Given the description of an element on the screen output the (x, y) to click on. 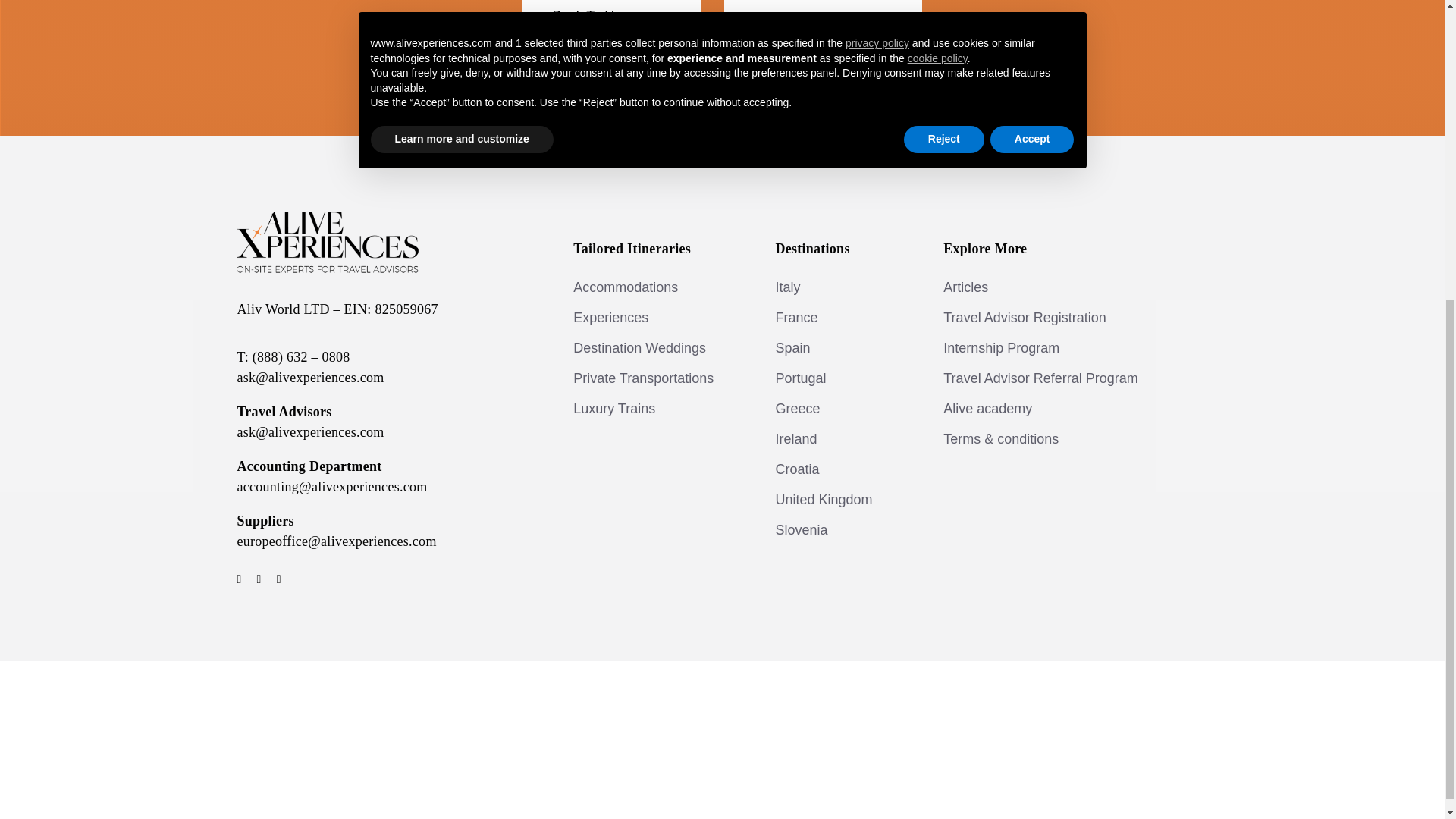
Private Transportations (654, 377)
Alive academy (1050, 408)
Destination Weddings (654, 347)
Travel Advisor Registration (1050, 317)
Articles (1050, 287)
Slovenia (839, 530)
Accommodations (654, 287)
Internship Program (1050, 347)
Luxury Trains (654, 408)
Greece (839, 408)
